Given the description of an element on the screen output the (x, y) to click on. 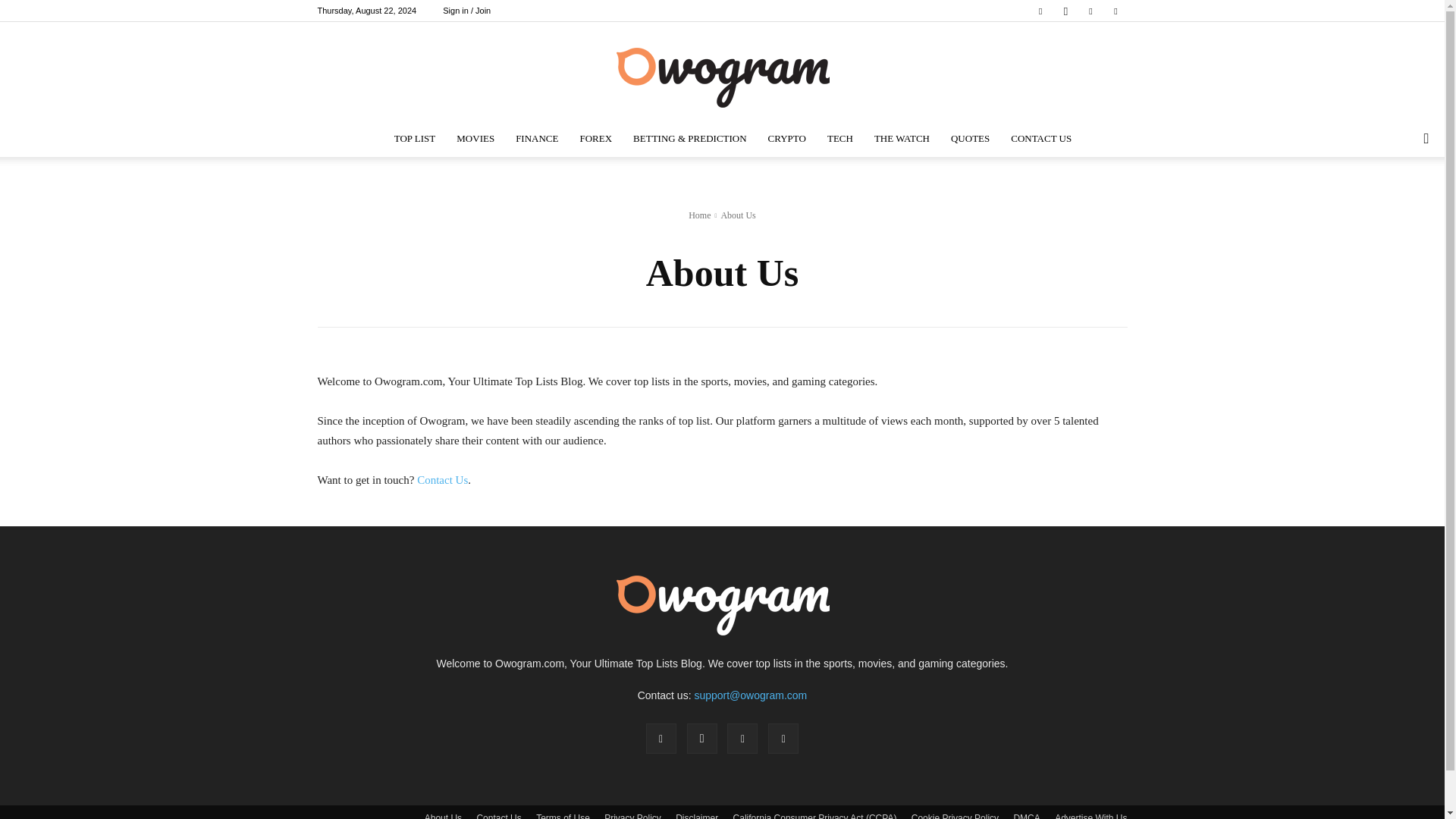
Twitter (1090, 10)
Facebook (1040, 10)
TOP LIST (415, 138)
Youtube (1114, 10)
Instagram (1065, 10)
